Given the description of an element on the screen output the (x, y) to click on. 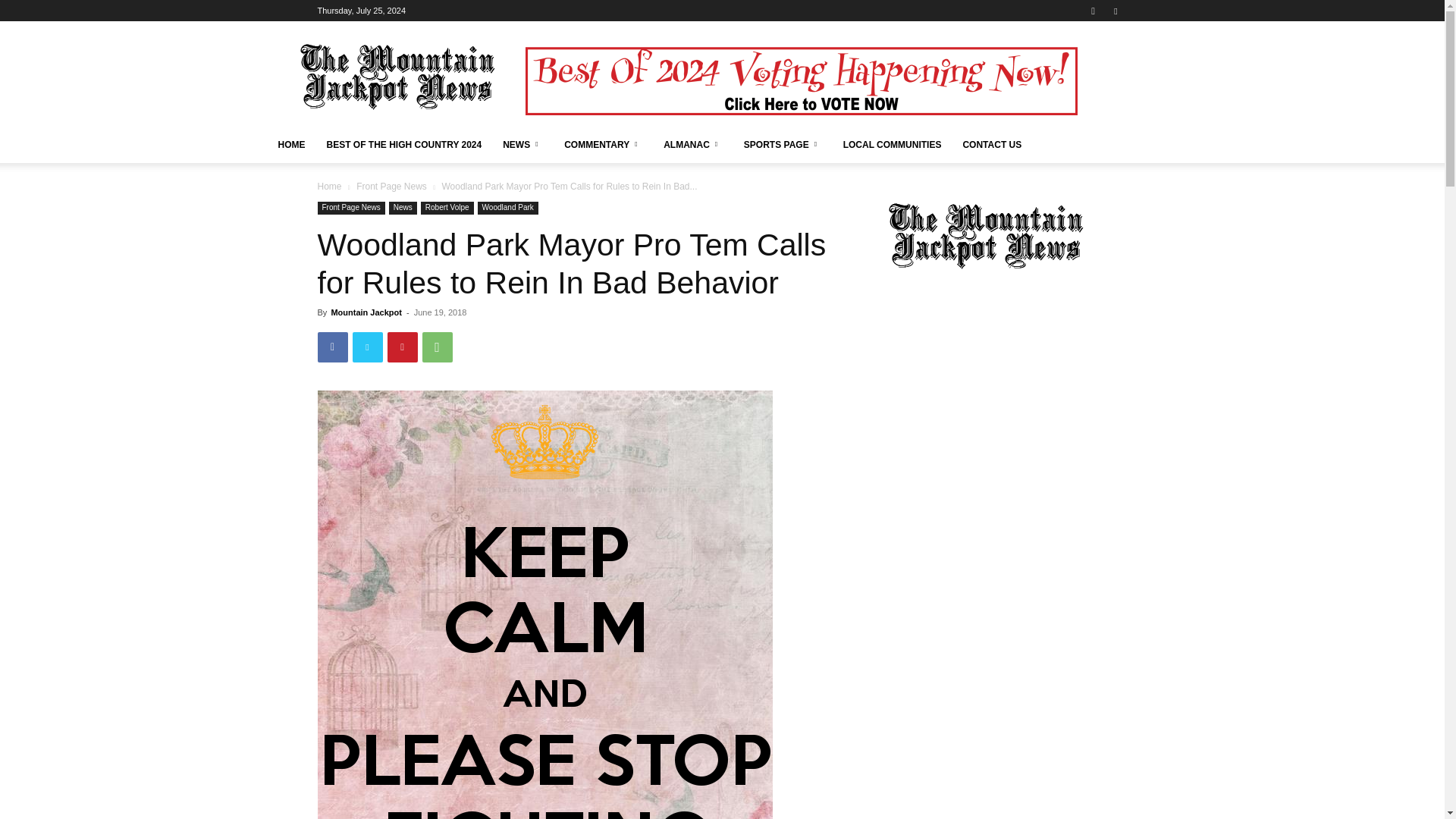
Facebook (332, 347)
Facebook (1114, 10)
COMMENTARY (602, 144)
Pinterest (401, 347)
WhatsApp (436, 347)
Search (1085, 64)
View all posts in Front Page News (391, 185)
SPORTS PAGE (782, 144)
NEWS (522, 144)
ALMANAC (692, 144)
BEST OF THE HIGH COUNTRY 2024 (403, 144)
HOME (290, 144)
Twitter (366, 347)
